Given the description of an element on the screen output the (x, y) to click on. 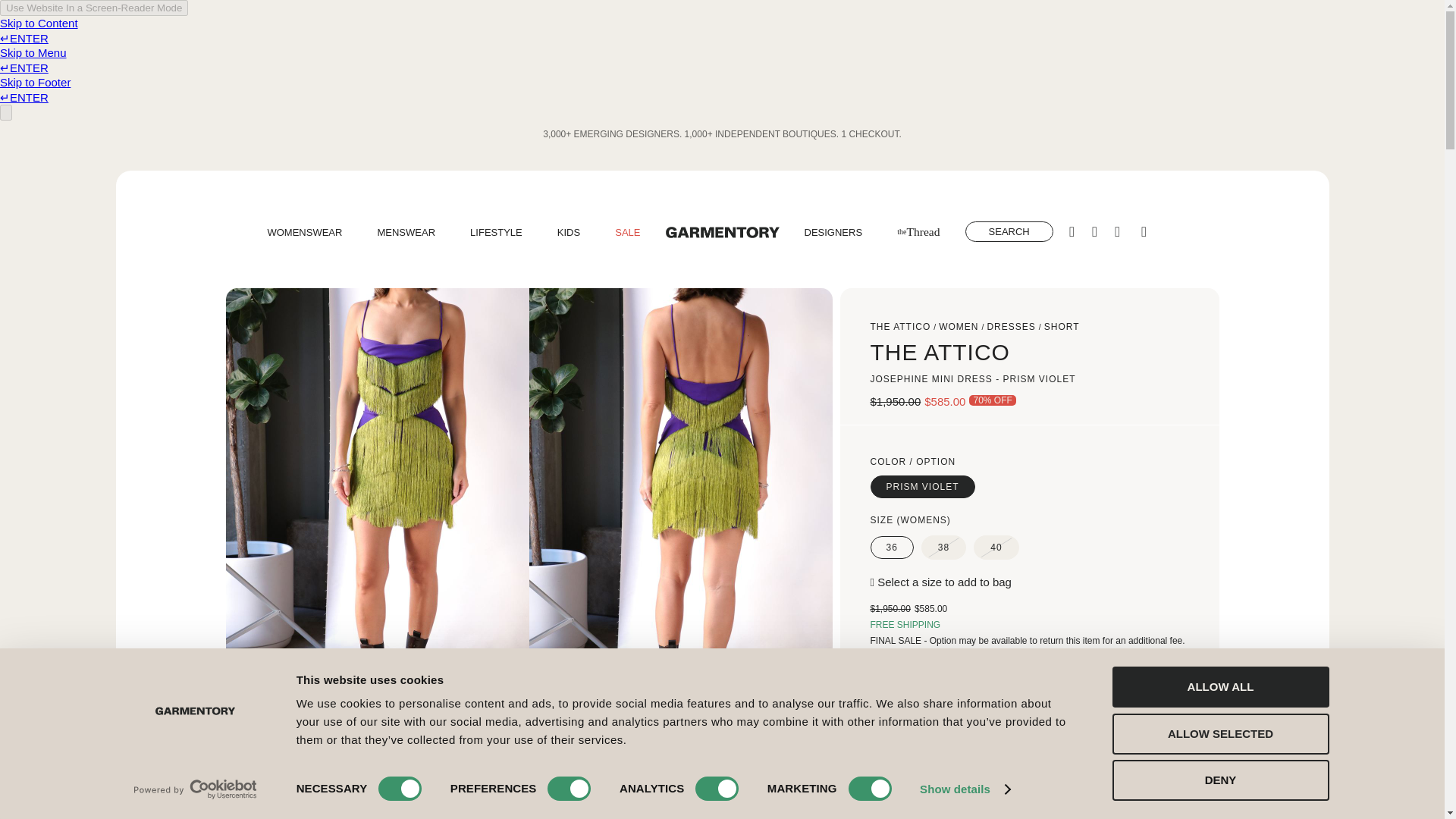
DENY (1219, 780)
ALLOW SELECTED (1219, 732)
Show details (964, 789)
Add to bag (961, 704)
ALLOW ALL (1219, 686)
